Given the description of an element on the screen output the (x, y) to click on. 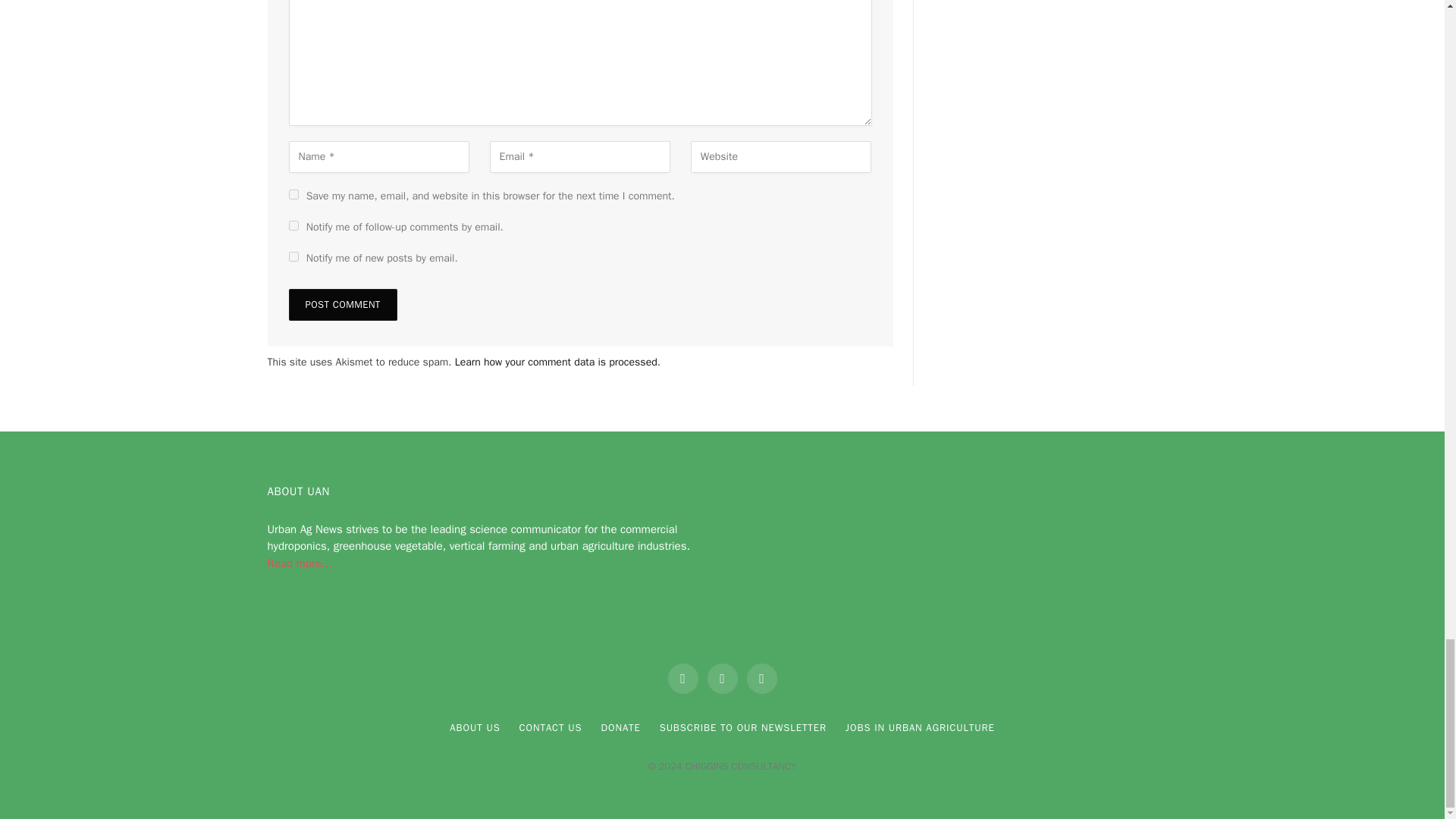
subscribe (293, 256)
yes (293, 194)
Post Comment (342, 305)
subscribe (293, 225)
